Given the description of an element on the screen output the (x, y) to click on. 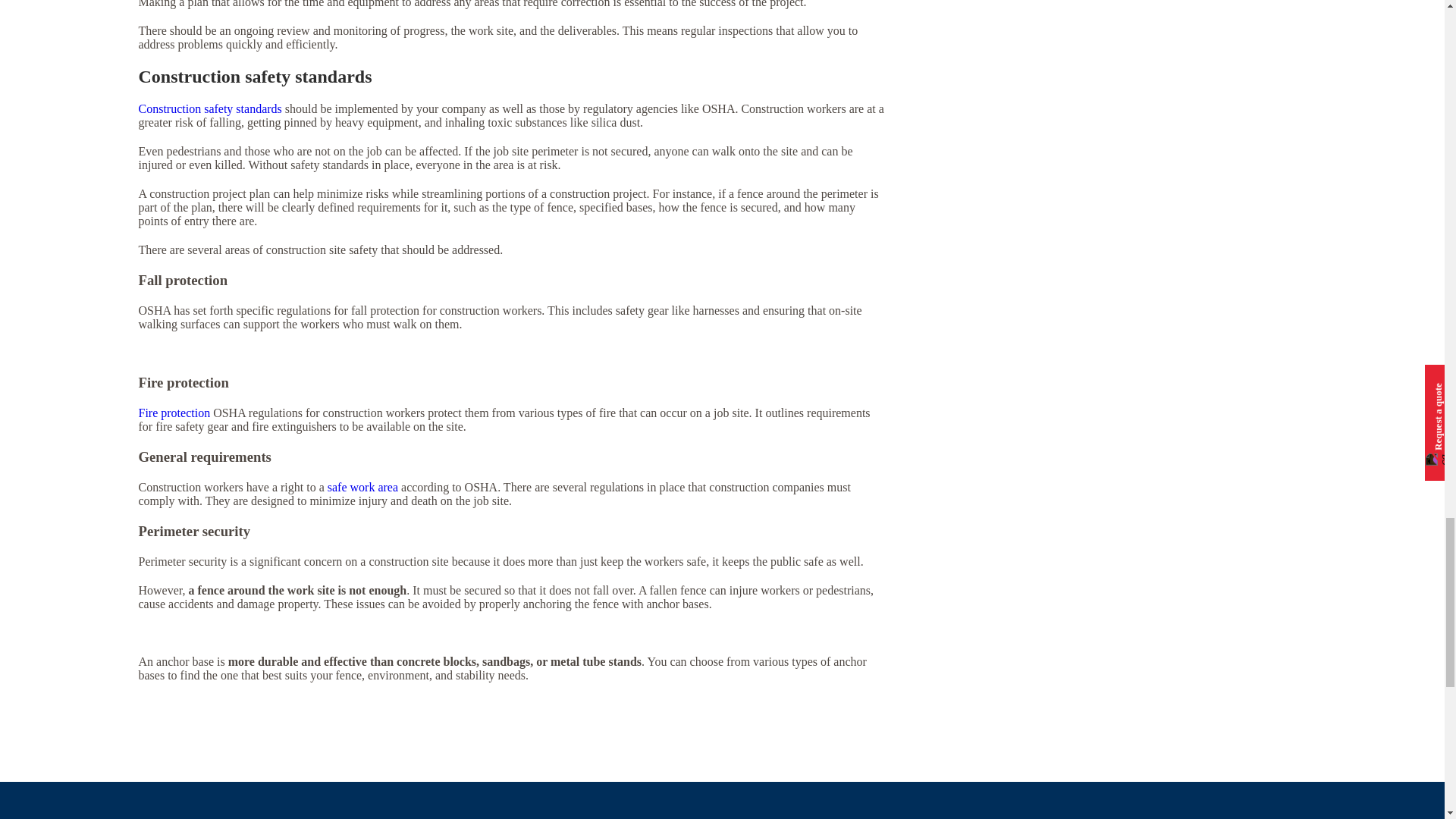
Construction safety standards (209, 108)
Fire protection (173, 412)
safe work area (362, 486)
